Given the description of an element on the screen output the (x, y) to click on. 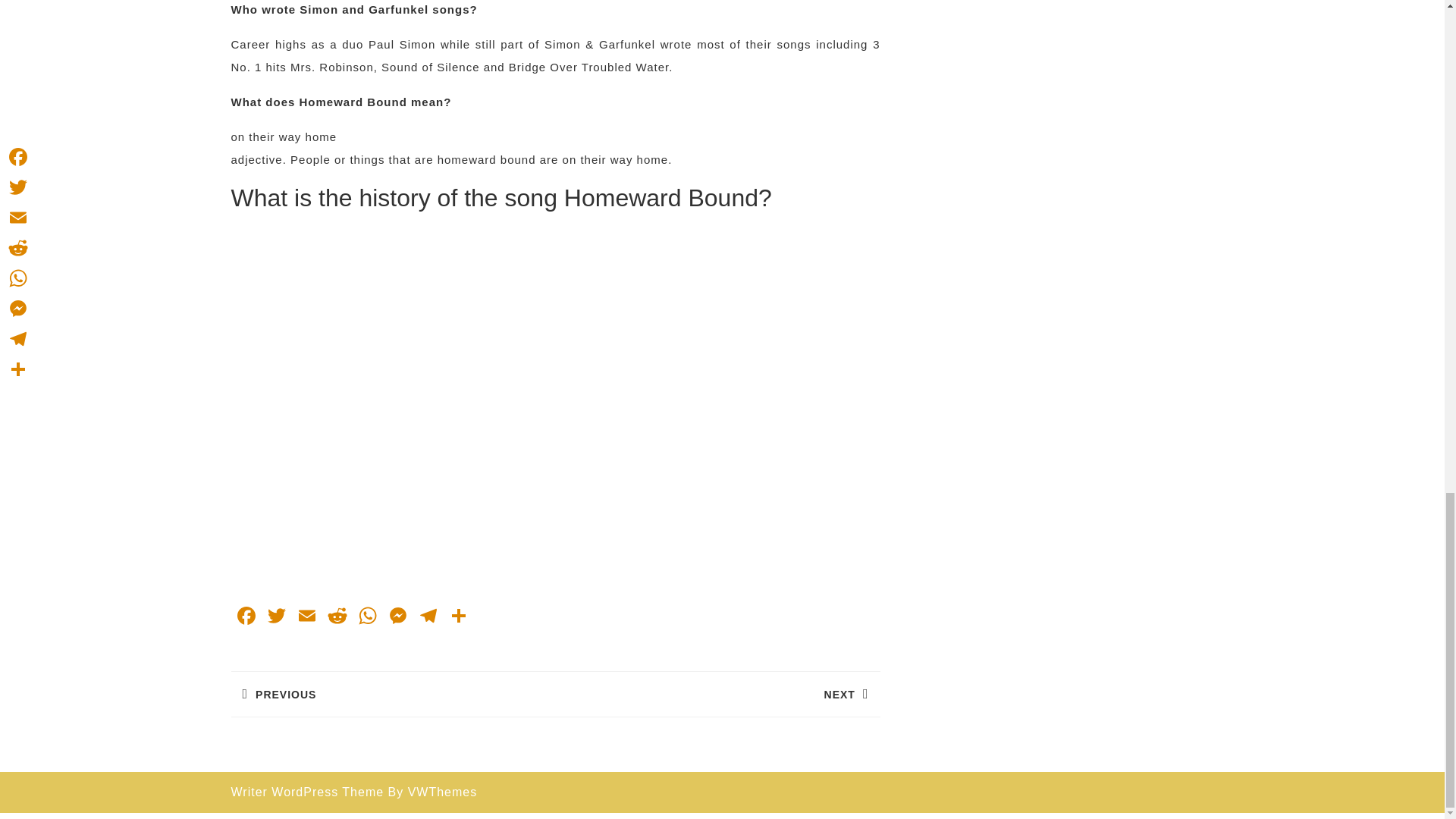
Email (306, 617)
Facebook (392, 693)
Email (716, 693)
Twitter (245, 617)
WhatsApp (306, 617)
Facebook (275, 617)
Messenger (366, 617)
Reddit (245, 617)
